Given the description of an element on the screen output the (x, y) to click on. 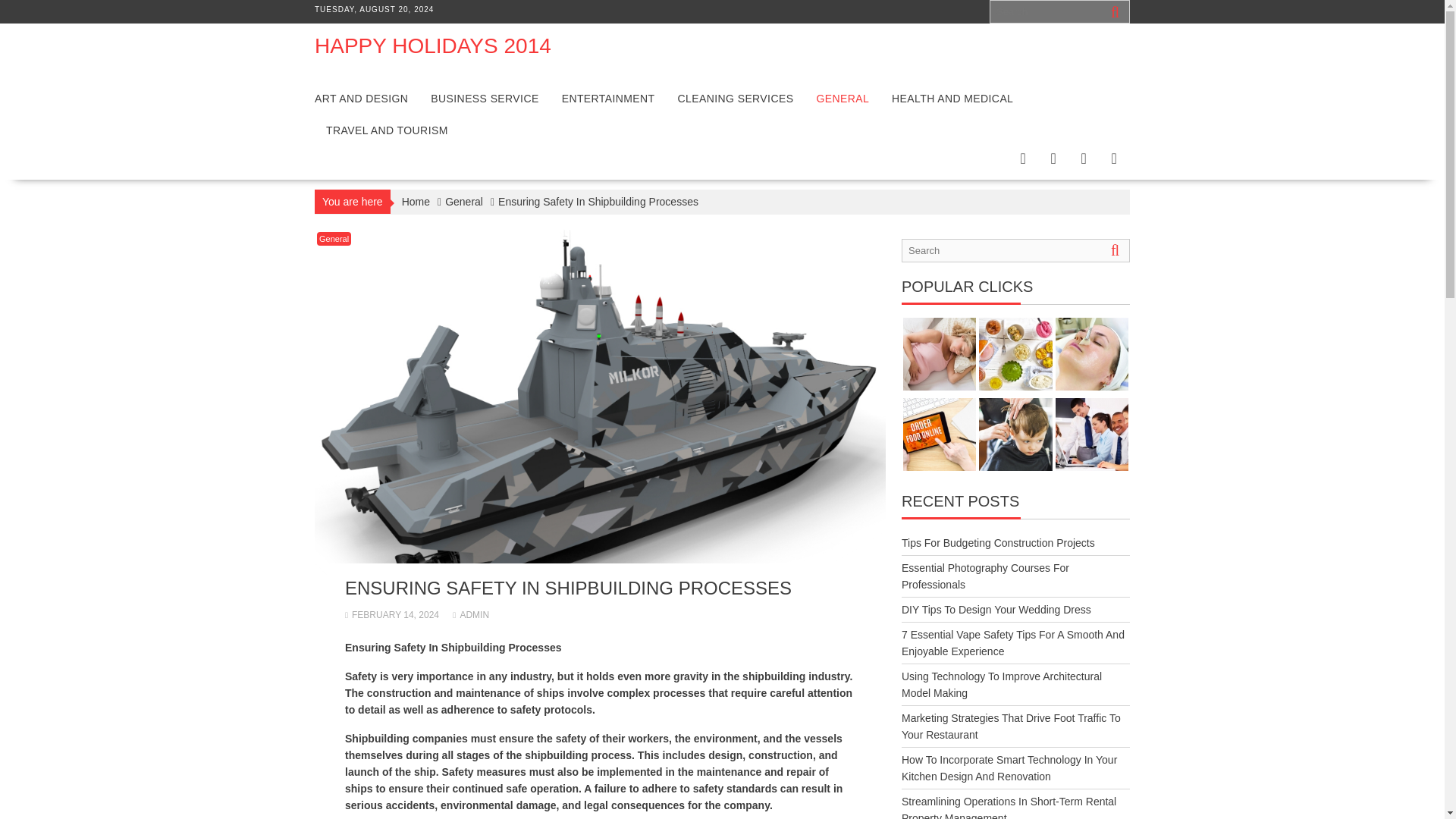
HEALTH AND MEDICAL (952, 98)
HAPPY HOLIDAYS 2014 (432, 45)
GENERAL (842, 98)
ART AND DESIGN (360, 98)
ADMIN (470, 614)
TRAVEL AND TOURISM (387, 130)
Home (415, 201)
ENTERTAINMENT (608, 98)
BUSINESS SERVICE (484, 98)
General (464, 201)
